Given the description of an element on the screen output the (x, y) to click on. 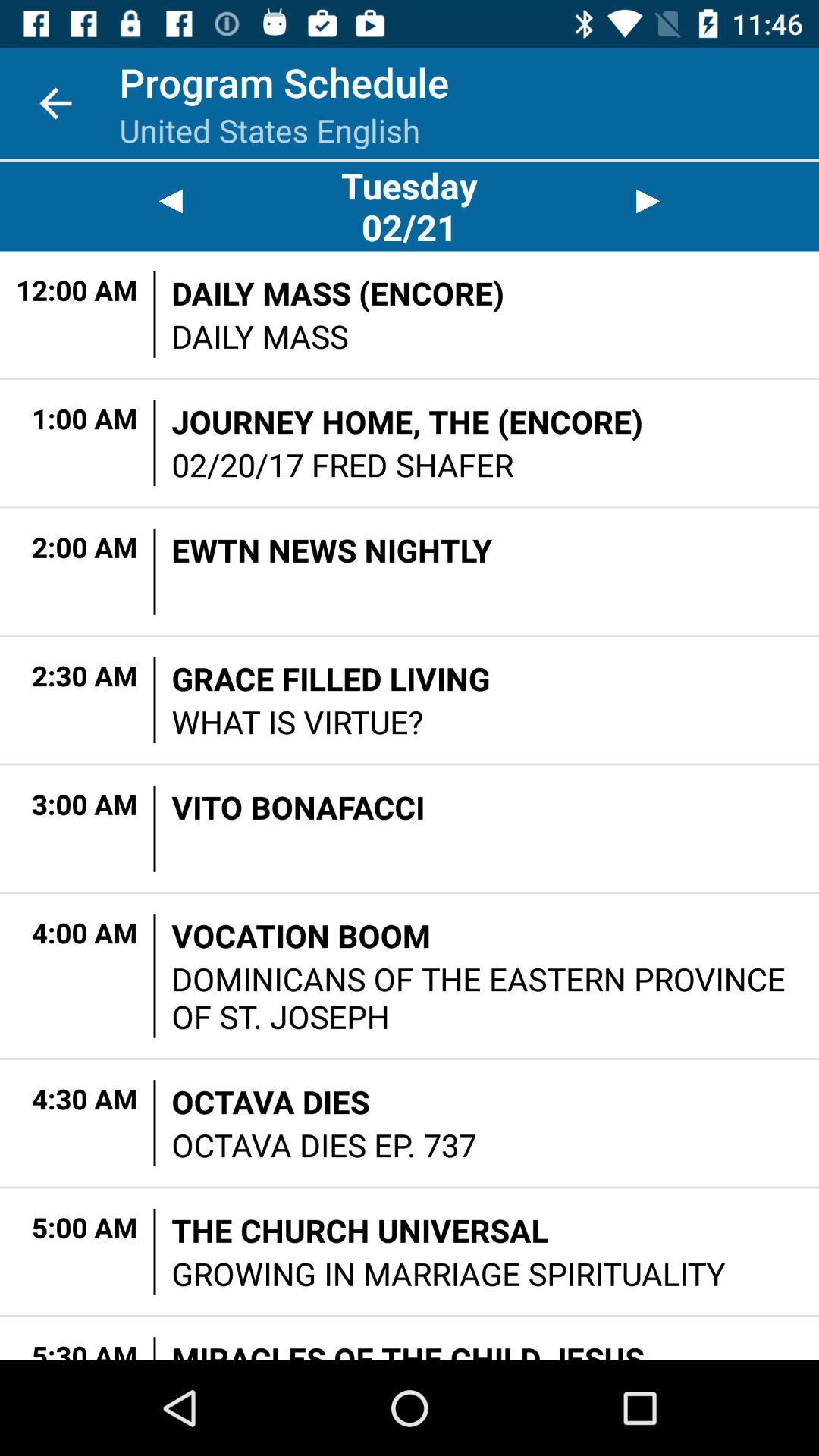
go back in time (170, 201)
